Given the description of an element on the screen output the (x, y) to click on. 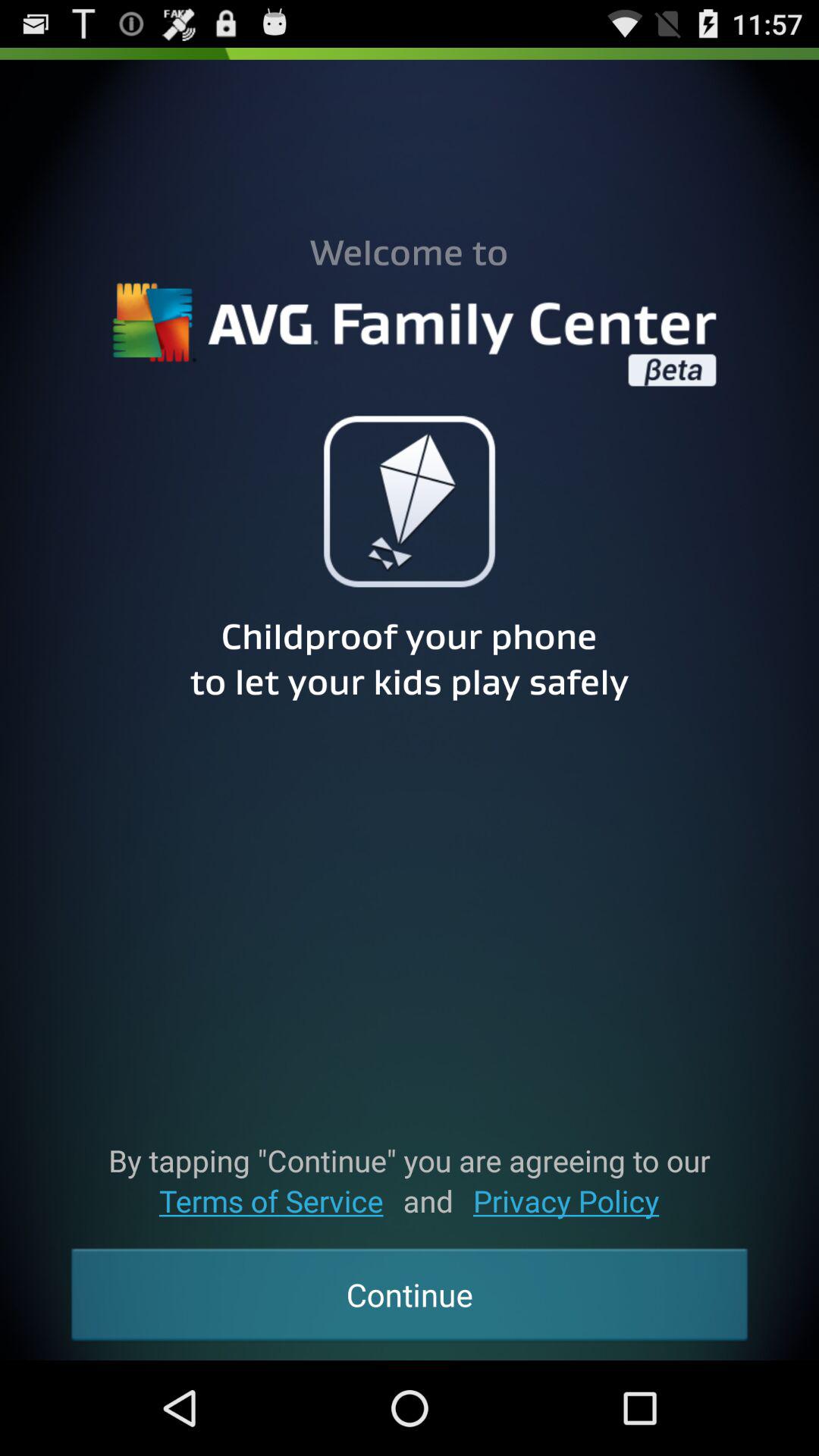
turn off the app next to and (566, 1200)
